Given the description of an element on the screen output the (x, y) to click on. 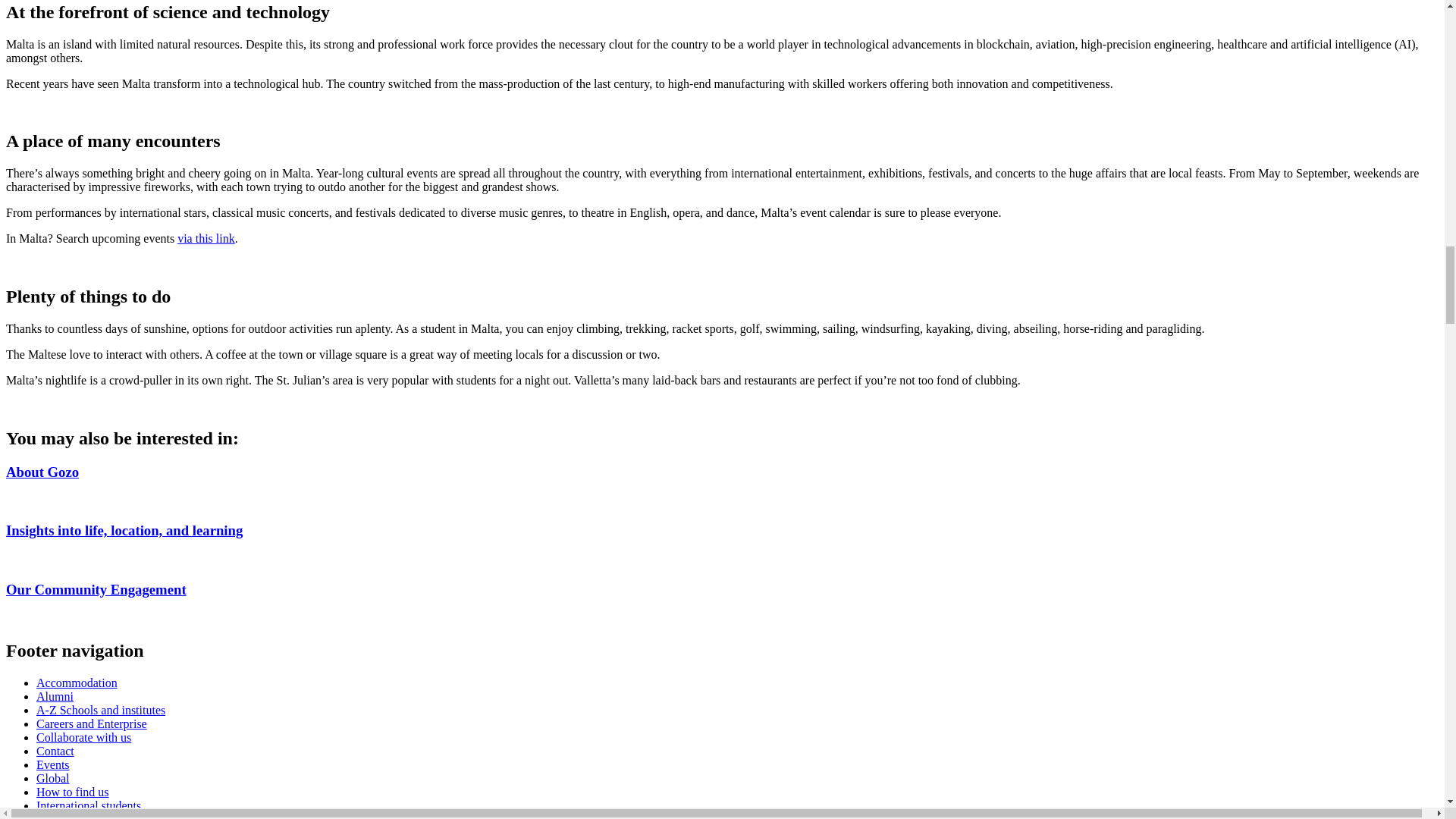
Visit Malta Events (205, 237)
